Given the description of an element on the screen output the (x, y) to click on. 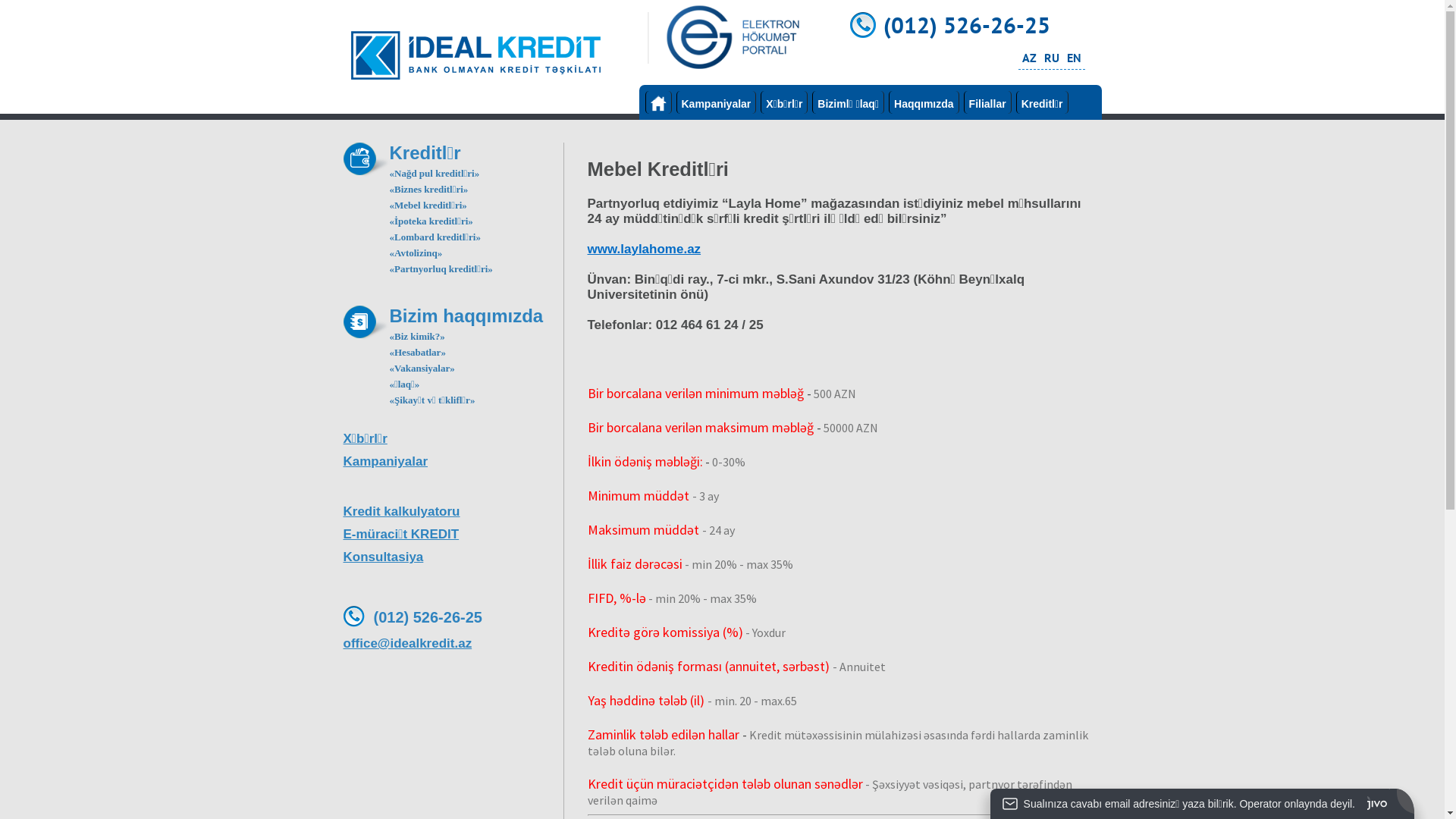
AZ Element type: text (1029, 57)
EN Element type: text (1073, 57)
Kredit kalkulyatoru Element type: text (452, 511)
RU Element type: text (1050, 57)
Konsultasiya Element type: text (452, 556)
www.laylahome.az Element type: text (643, 248)
Filiallar Element type: text (987, 102)
office@idealkredit.az Element type: text (452, 643)
Kampaniyalar Element type: text (452, 461)
Kampaniyalar Element type: text (716, 102)
